Given the description of an element on the screen output the (x, y) to click on. 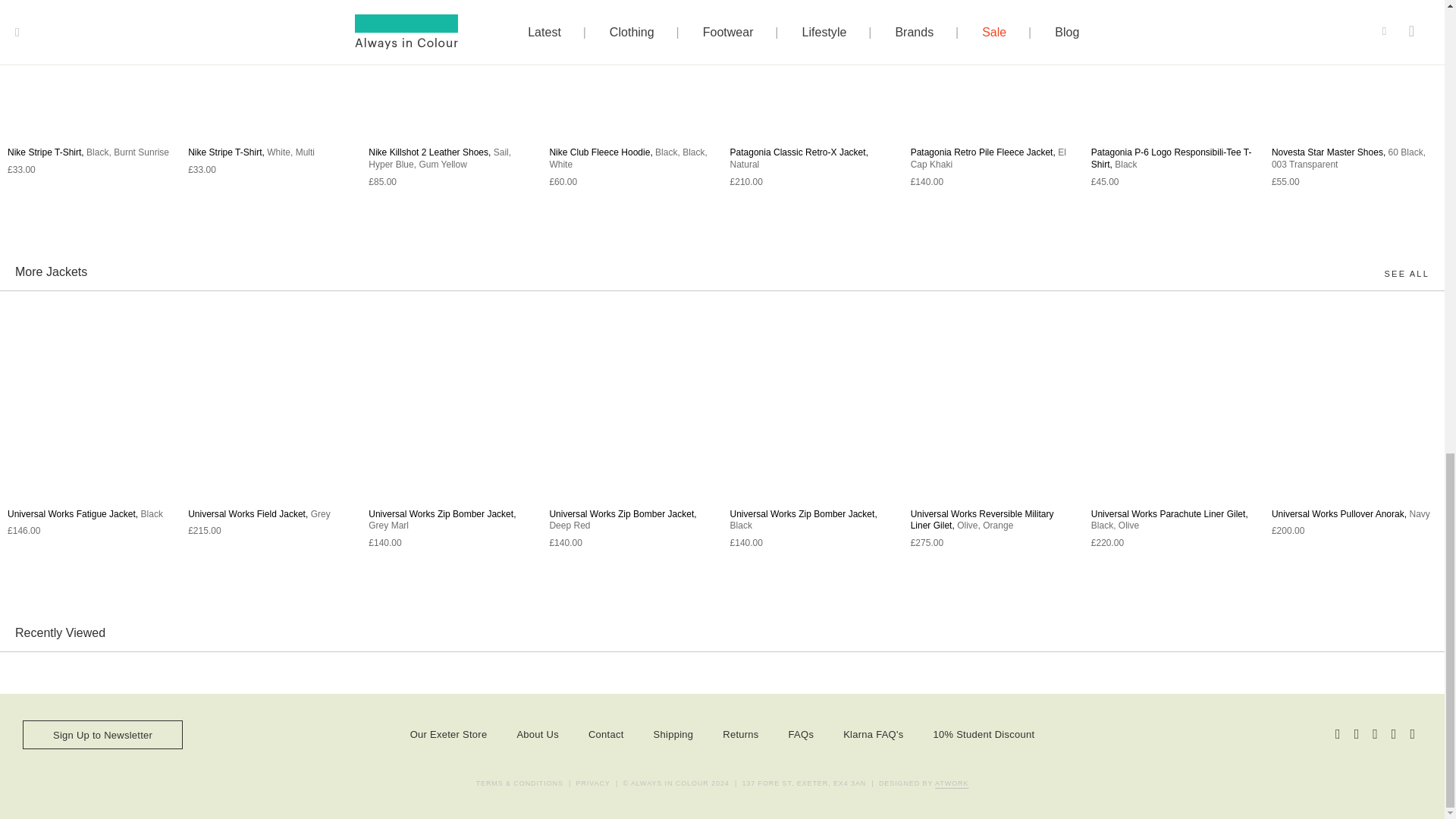
View the Always in Colour Privacy Policy (592, 784)
Always in Colour Exeter shop address (803, 784)
